Given the description of an element on the screen output the (x, y) to click on. 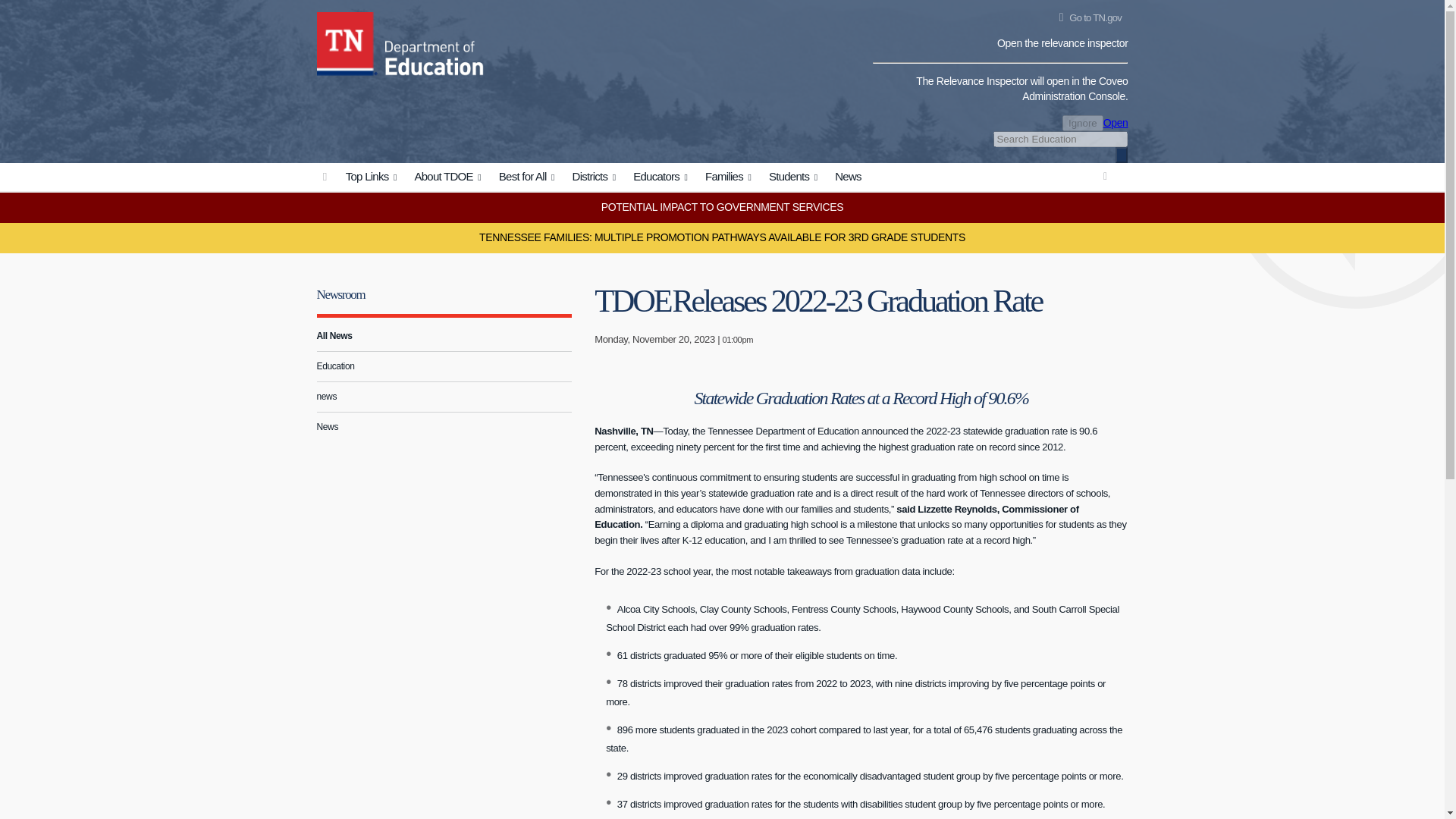
Top Links (373, 176)
Go to TN.gov (1086, 18)
Home (347, 41)
About TDOE (449, 176)
Go to Education (324, 176)
Districts (596, 176)
Best for All (528, 176)
